Given the description of an element on the screen output the (x, y) to click on. 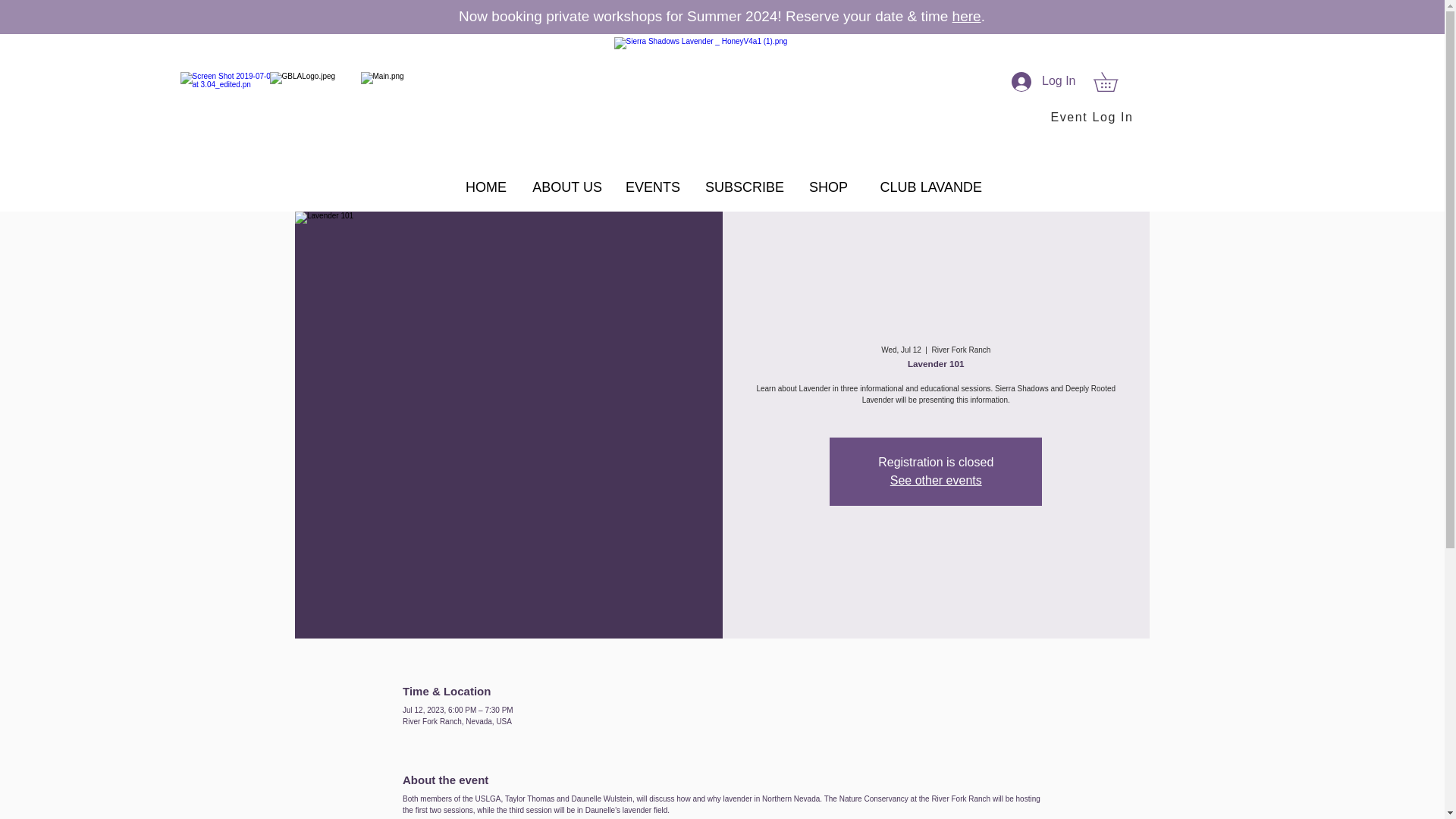
Event Log In (1086, 117)
CLUB LAVANDE (925, 187)
Log In (1043, 81)
ABOUT US (565, 187)
Nevada Grown Transparent Background.png (395, 117)
See other events (935, 480)
here (966, 16)
HOME (483, 187)
EVENTS (651, 187)
SHOP (826, 187)
SUBSCRIBE (742, 187)
